Given the description of an element on the screen output the (x, y) to click on. 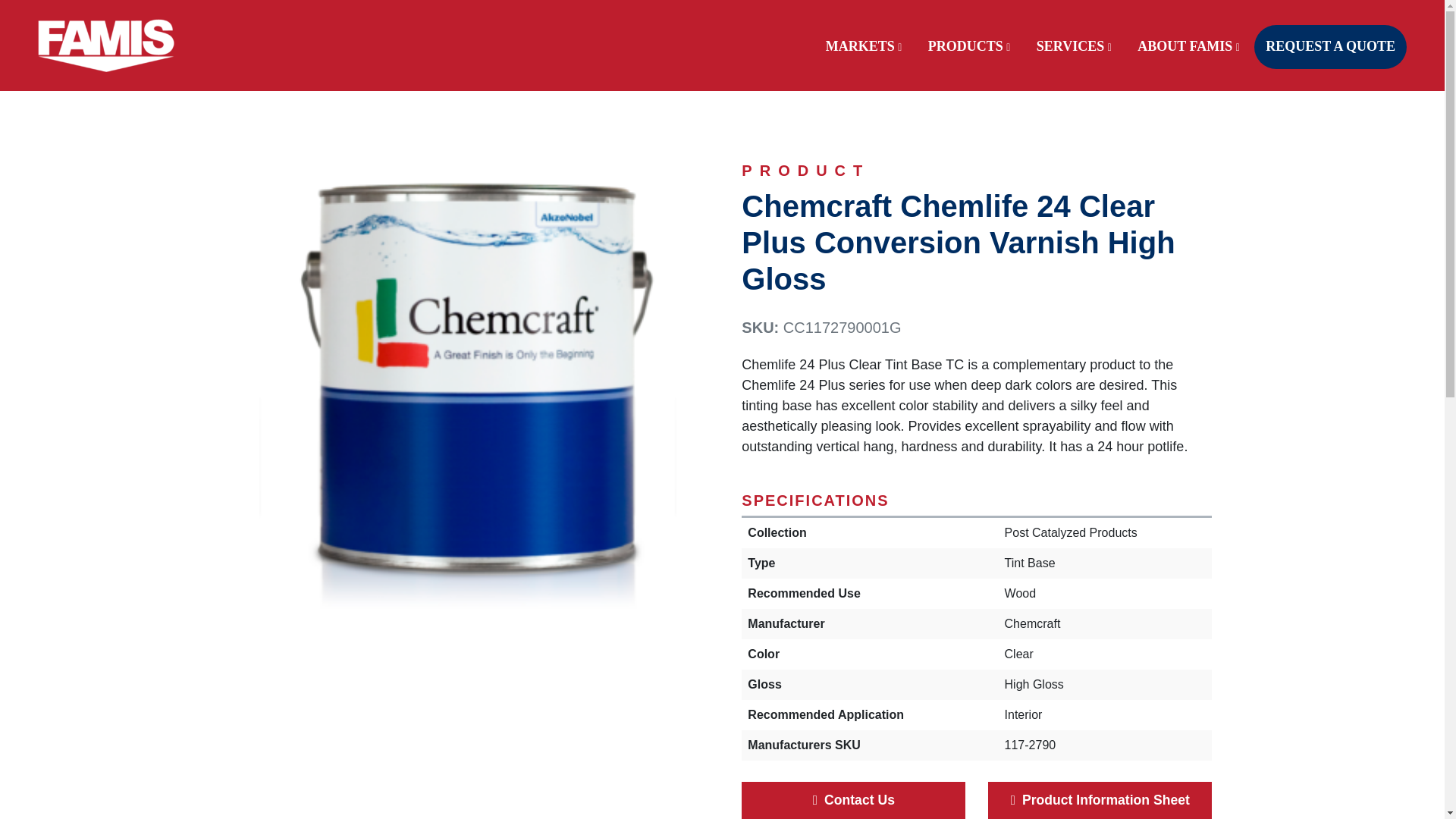
MARKETS (863, 56)
